Given the description of an element on the screen output the (x, y) to click on. 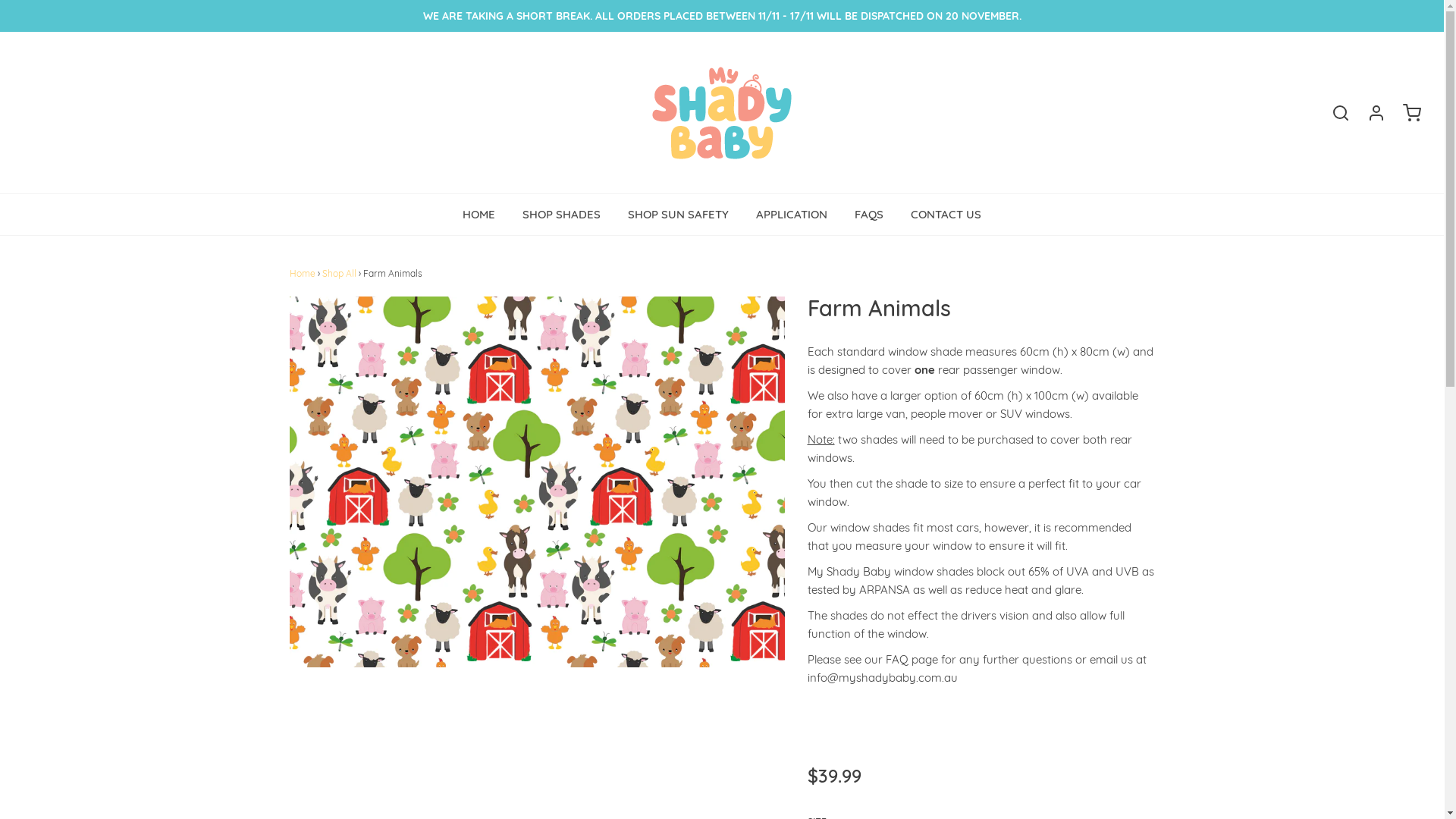
CONTACT US Element type: text (945, 214)
Home Element type: text (302, 273)
Cart Element type: hover (1404, 112)
Shop All Element type: text (339, 273)
Search Element type: hover (1332, 112)
APPLICATION Element type: text (791, 214)
Log in Element type: hover (1368, 112)
SHOP SUN SAFETY Element type: text (678, 214)
SHOP SHADES Element type: text (561, 214)
HOME Element type: text (478, 214)
FAQS Element type: text (868, 214)
